Given the description of an element on the screen output the (x, y) to click on. 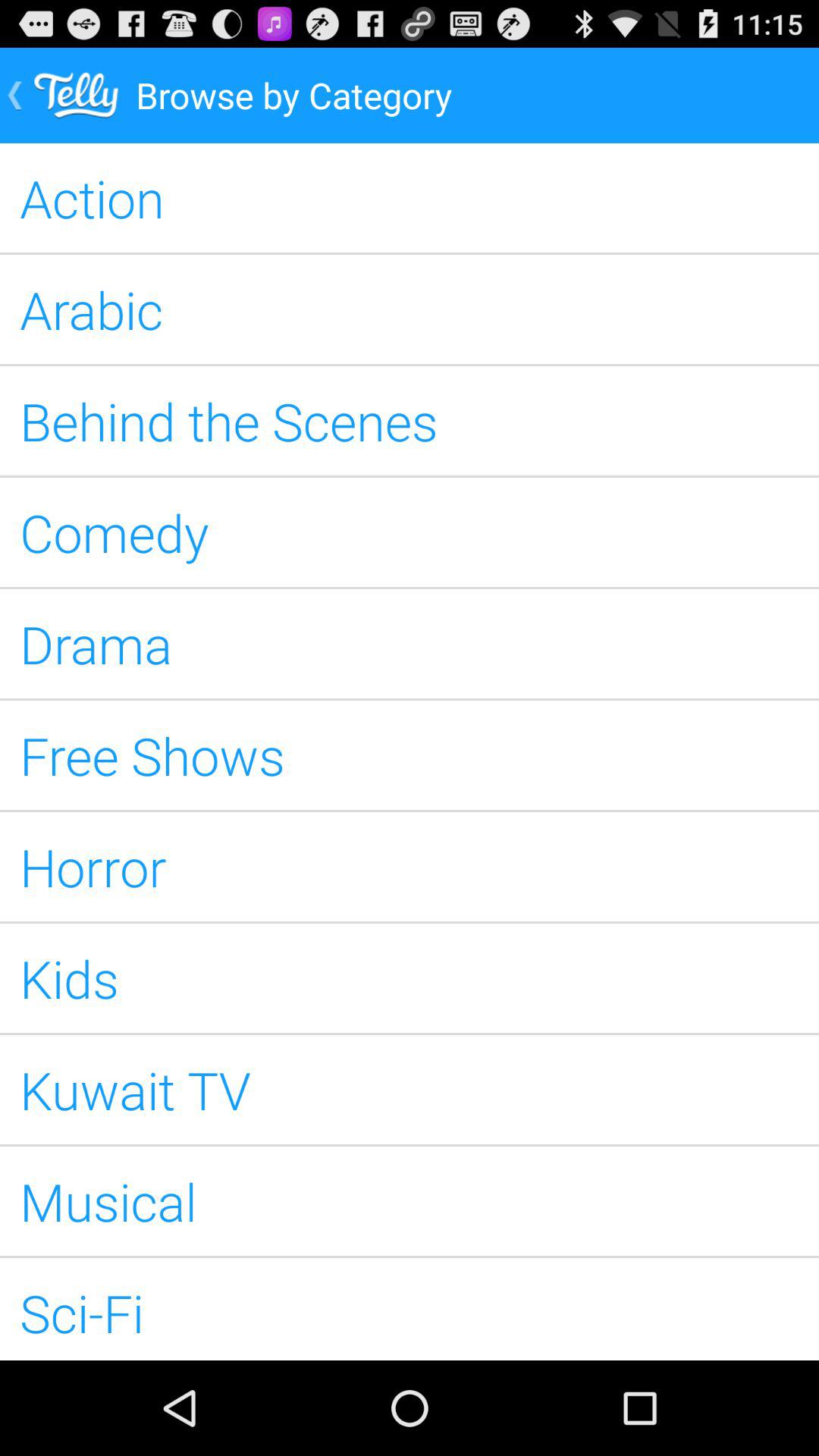
swipe until the comedy icon (409, 531)
